Given the description of an element on the screen output the (x, y) to click on. 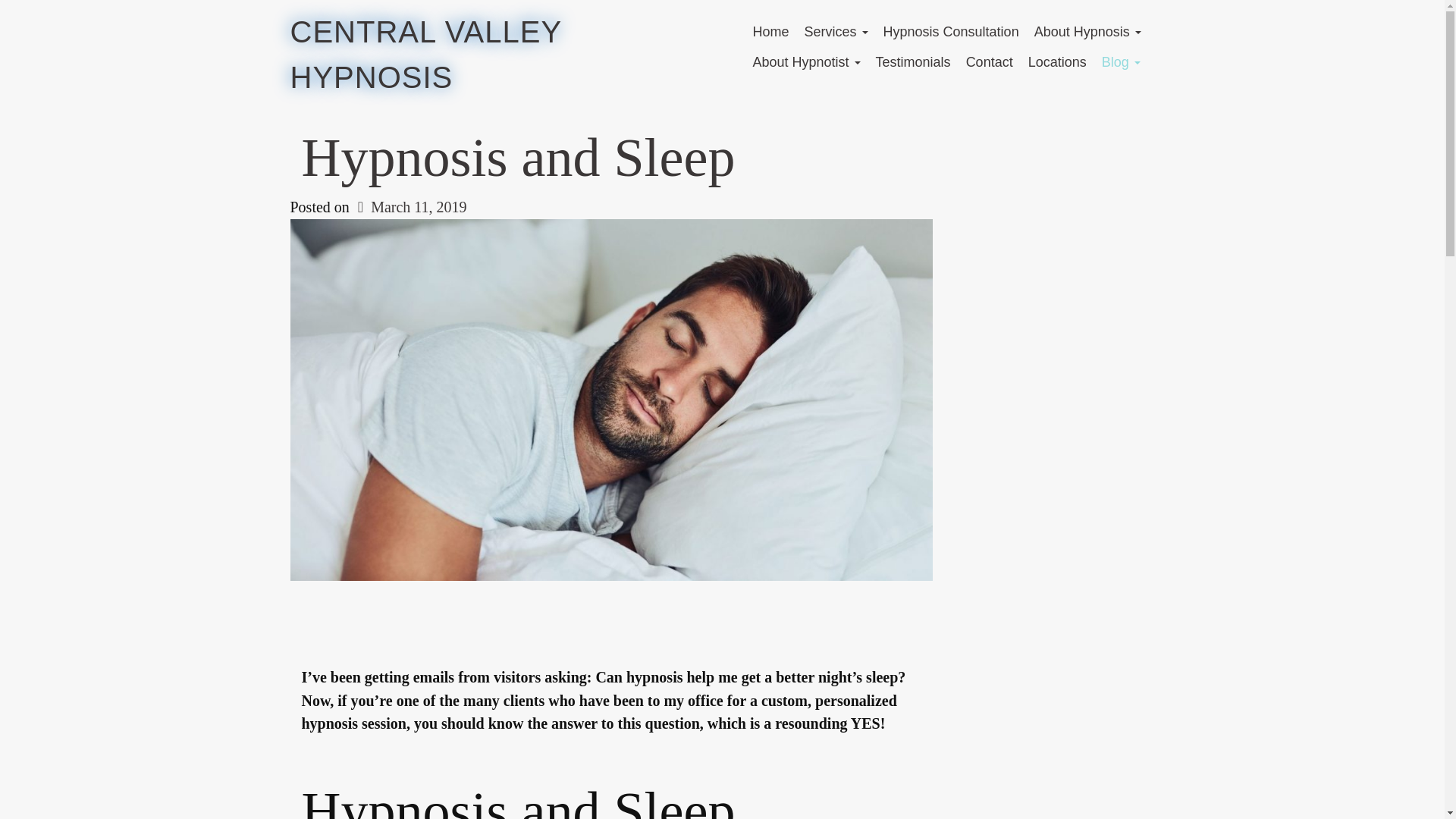
March 11, 2019 (410, 207)
Contact (989, 61)
Services (836, 31)
About Hypnotist (805, 61)
Testimonials (912, 61)
Locations (1057, 61)
Blog (1121, 61)
Hypnosis and Sleep (518, 157)
Home (770, 31)
CENTRAL VALLEY HYPNOSIS (424, 54)
Hypnosis Consultation (951, 31)
About Hypnosis (1087, 31)
